Given the description of an element on the screen output the (x, y) to click on. 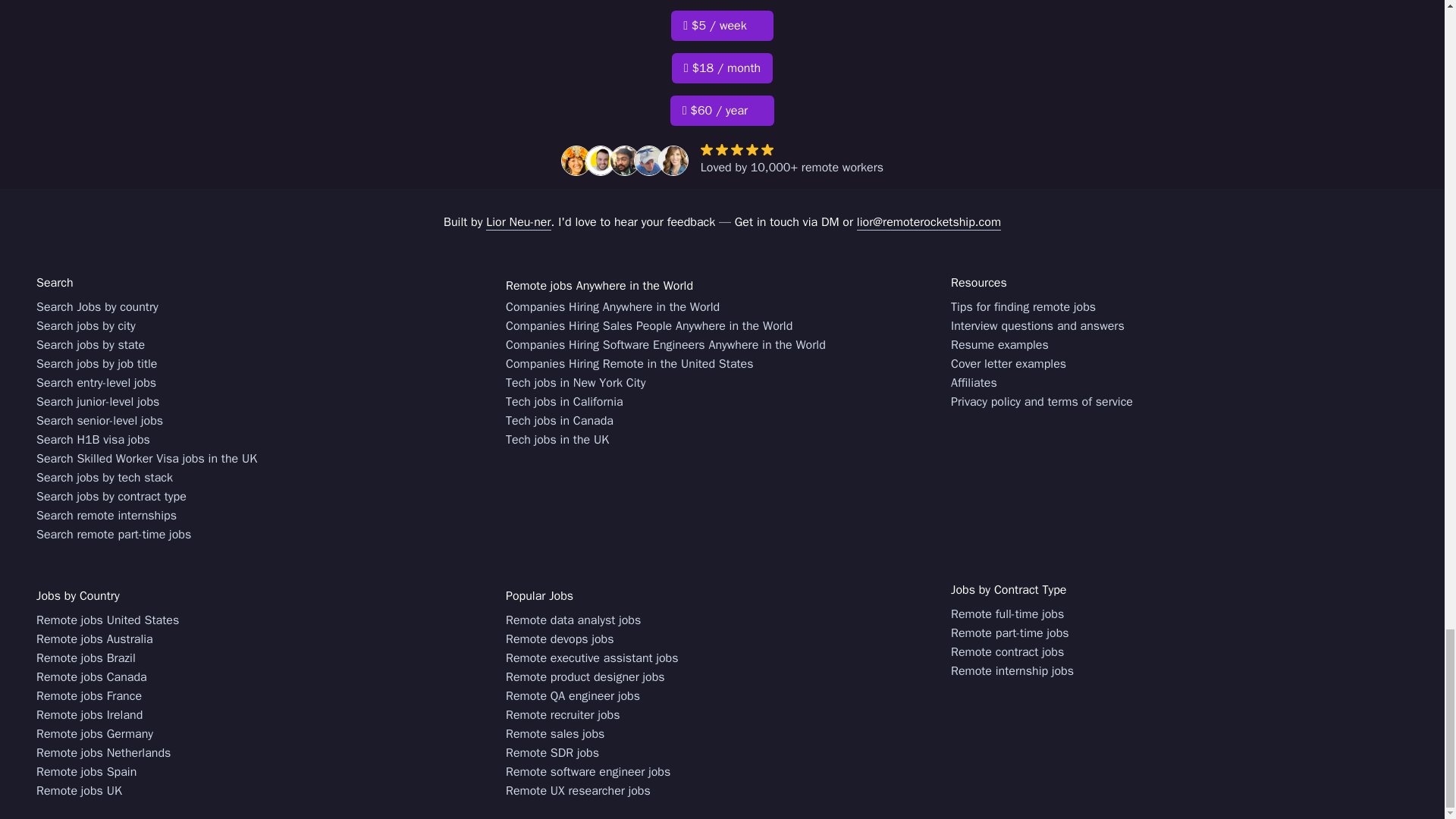
Search remote internships (106, 515)
Search jobs by city (85, 325)
Search H1B visa jobs (92, 439)
Search jobs by job title (96, 363)
Interview questions and answers (1037, 325)
Search remote part-time jobs (113, 534)
Search entry-level jobs (95, 383)
Search senior-level jobs (99, 420)
Tech jobs in Canada (558, 420)
Search jobs by tech stack (104, 477)
